Given the description of an element on the screen output the (x, y) to click on. 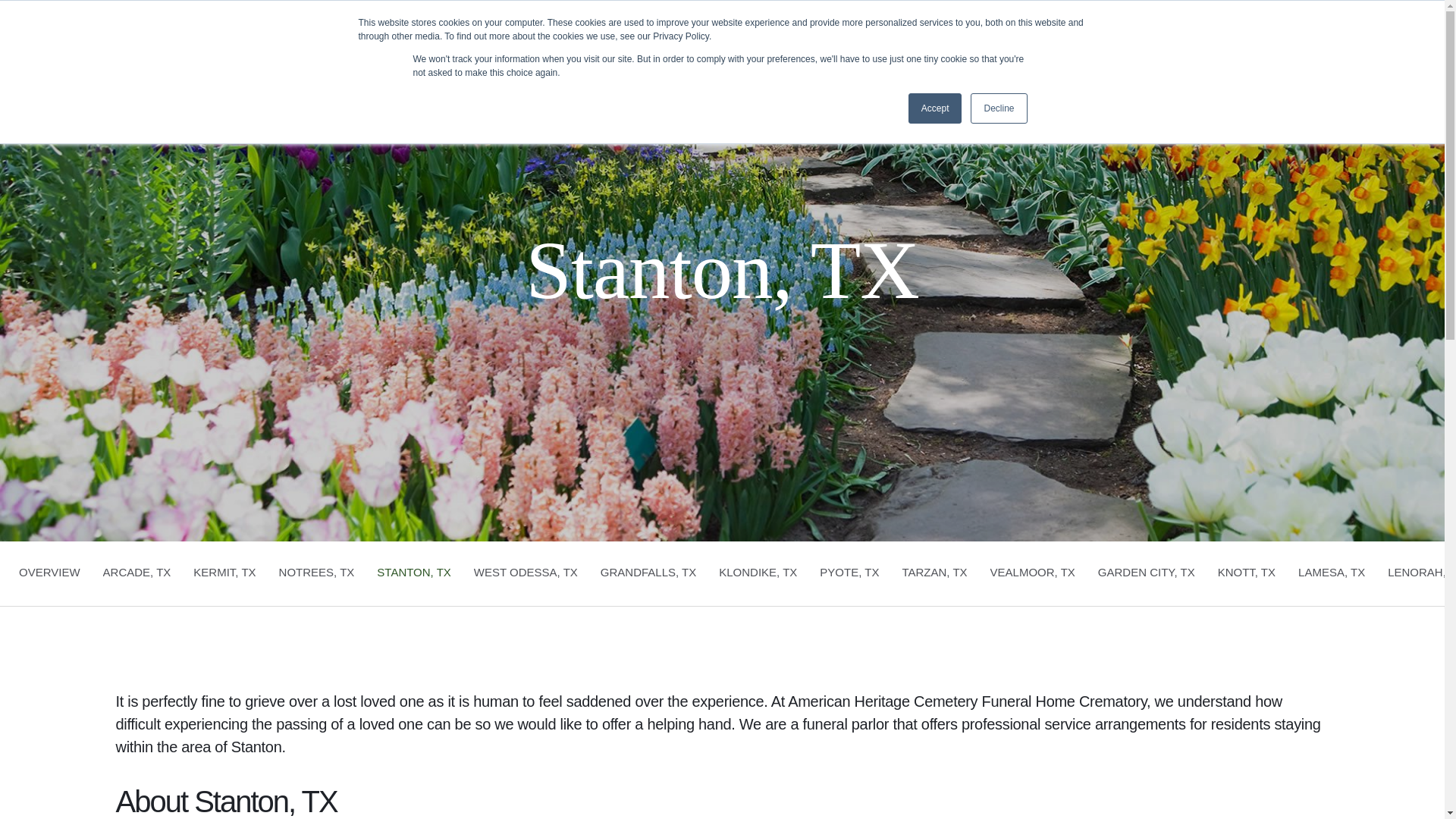
OBITUARIES (414, 573)
ABOUT US (849, 573)
PLAN AHEAD (602, 74)
Accept (812, 74)
